Given the description of an element on the screen output the (x, y) to click on. 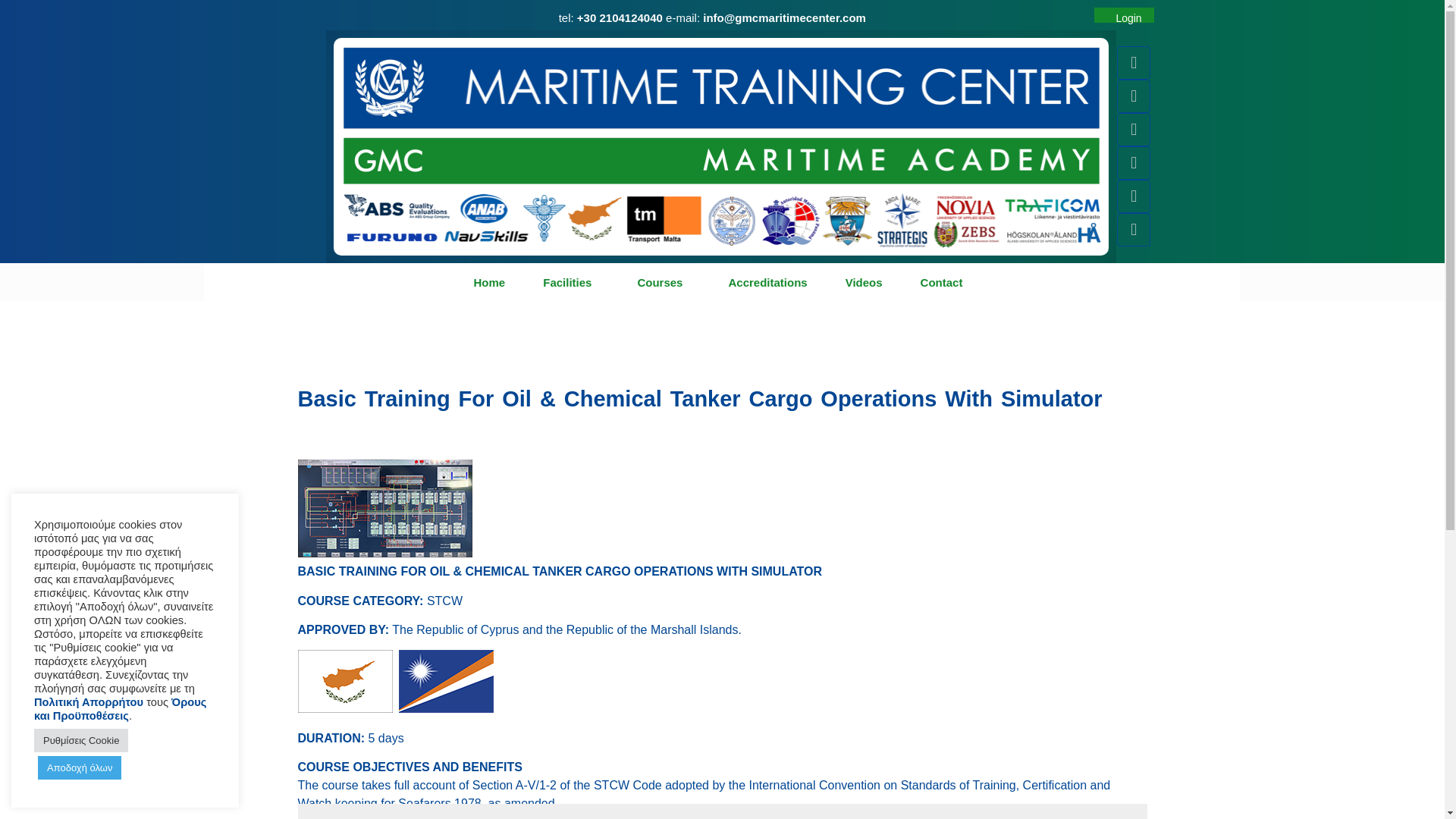
Login (1126, 18)
Courses (663, 282)
Home (489, 282)
Facilities (570, 282)
